Given the description of an element on the screen output the (x, y) to click on. 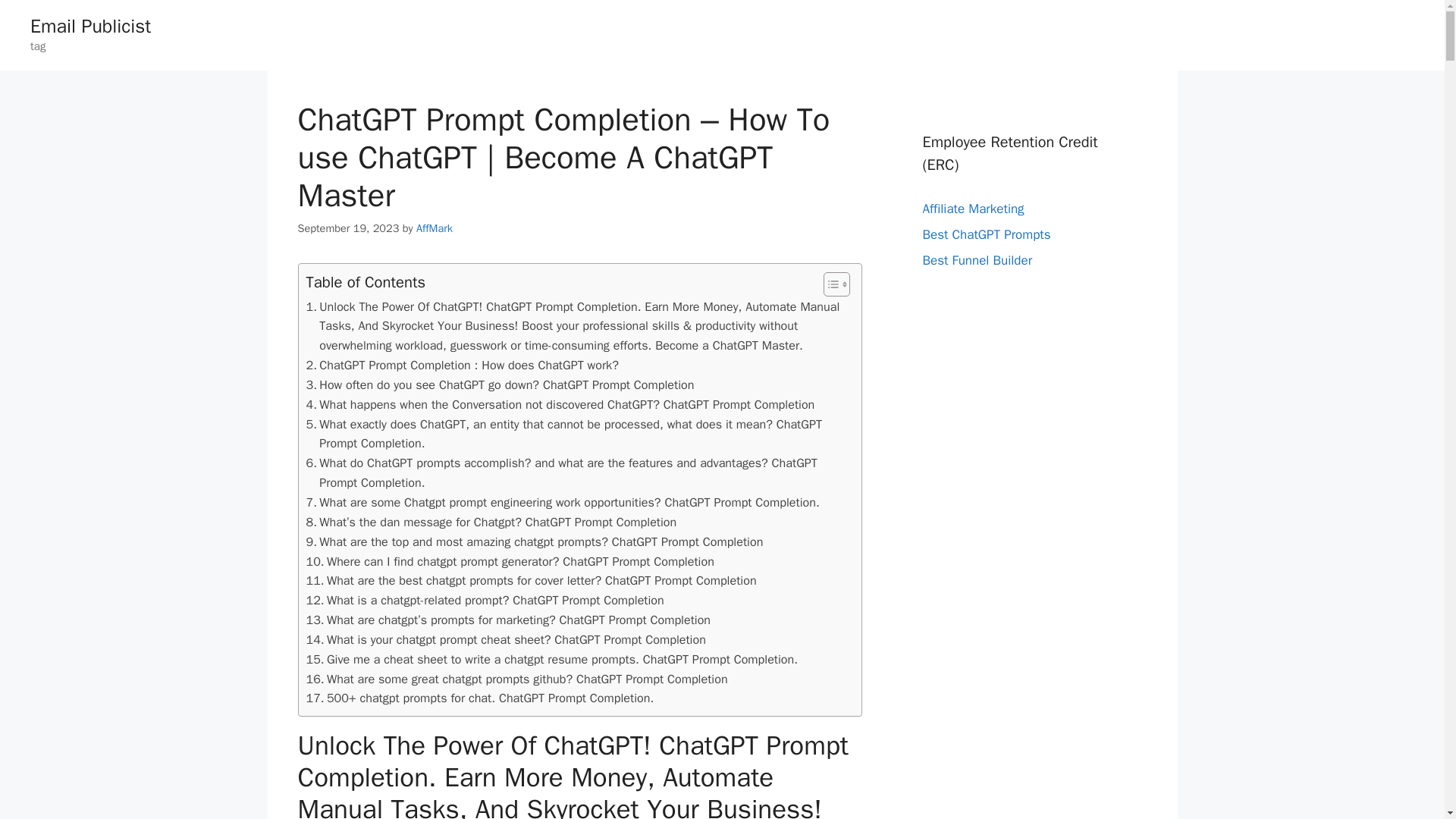
What is a chatgpt-related prompt? ChatGPT Prompt Completion (484, 600)
ChatGPT Prompt Completion : How does ChatGPT work? (461, 365)
View all posts by AffMark (434, 228)
ChatGPT Prompt Completion : How does ChatGPT work? (461, 365)
